Given the description of an element on the screen output the (x, y) to click on. 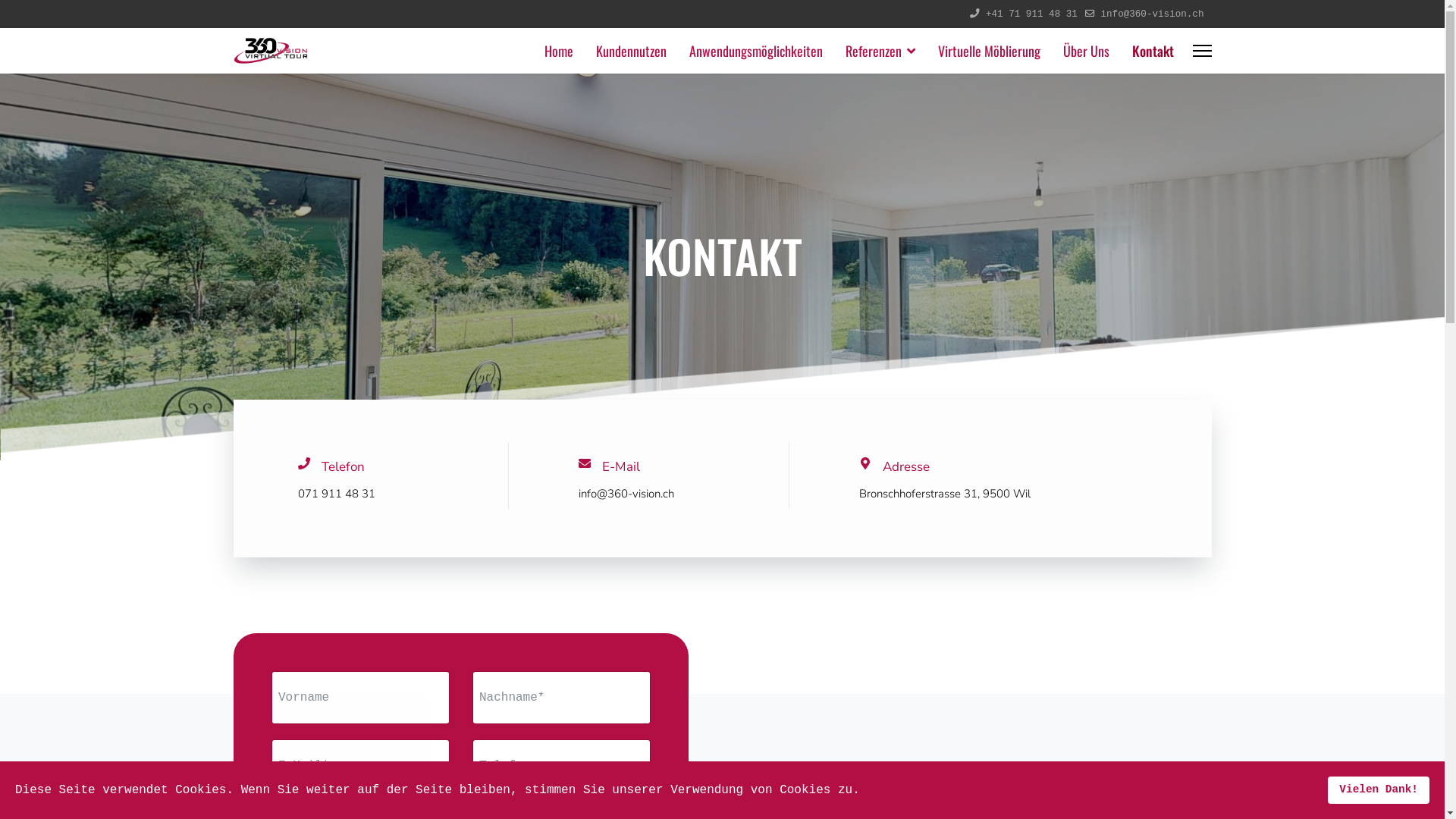
Kundennutzen Element type: text (630, 50)
Vielen Dank! Element type: text (1378, 789)
Referenzen Element type: text (880, 50)
info@360-vision.ch Element type: text (625, 493)
+41 71 911 48 31 Element type: text (1031, 14)
Menu Element type: hover (1201, 50)
Home Element type: text (557, 50)
Kontakt Element type: text (1146, 50)
info@360-vision.ch Element type: text (1151, 14)
